Given the description of an element on the screen output the (x, y) to click on. 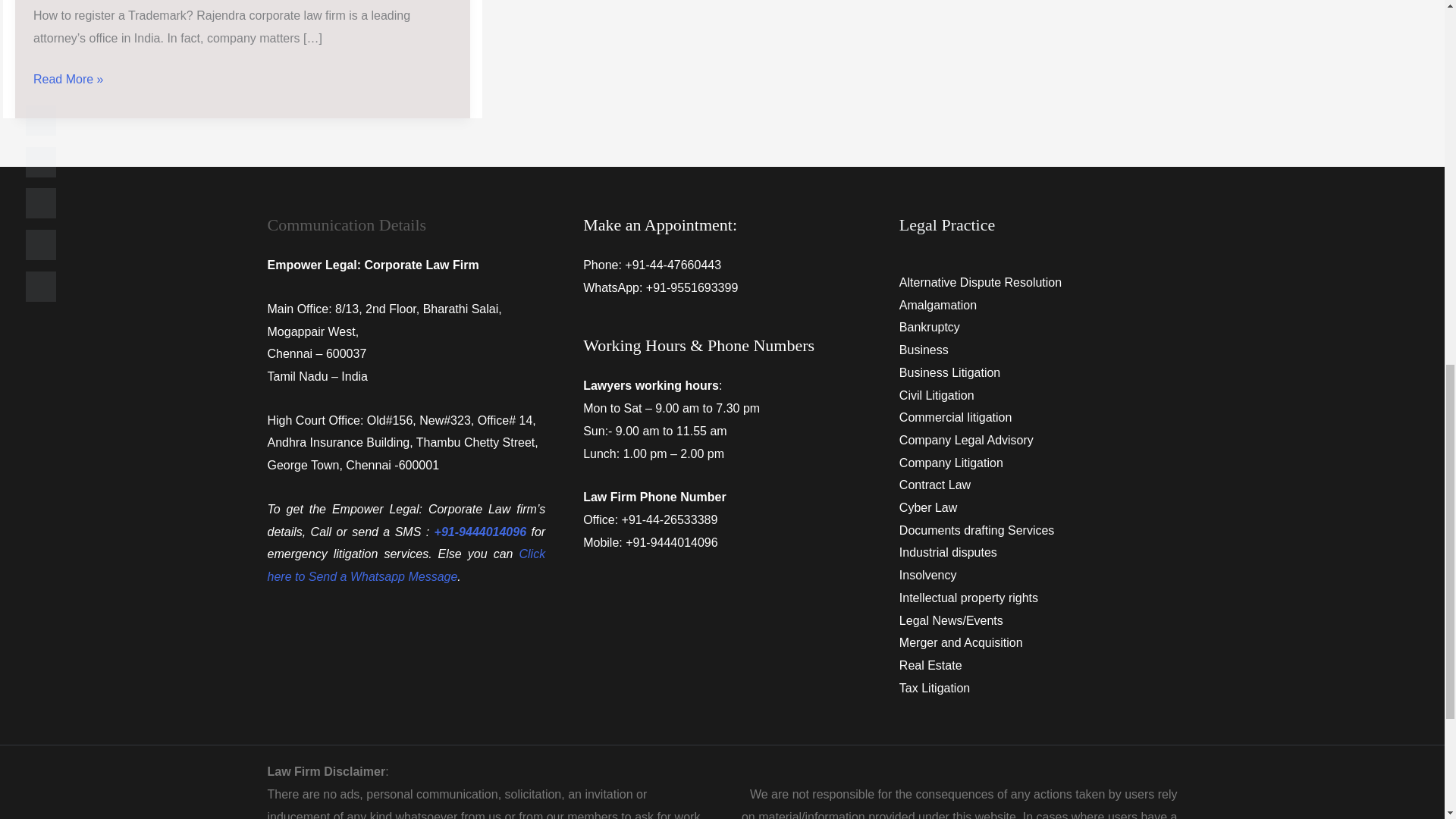
Company Legal Advisory (966, 440)
Business (924, 349)
Contract Law (935, 484)
Bankruptcy (929, 327)
Commercial litigation (955, 417)
Company Litigation (951, 462)
Business Litigation (949, 372)
Facebook (41, 203)
RSS (41, 120)
Alternative Dispute Resolution (980, 282)
Civil Litigation (936, 395)
Click here to Send a Whatsapp Message (405, 565)
Amalgamation (937, 305)
Follow by Email (41, 162)
